Given the description of an element on the screen output the (x, y) to click on. 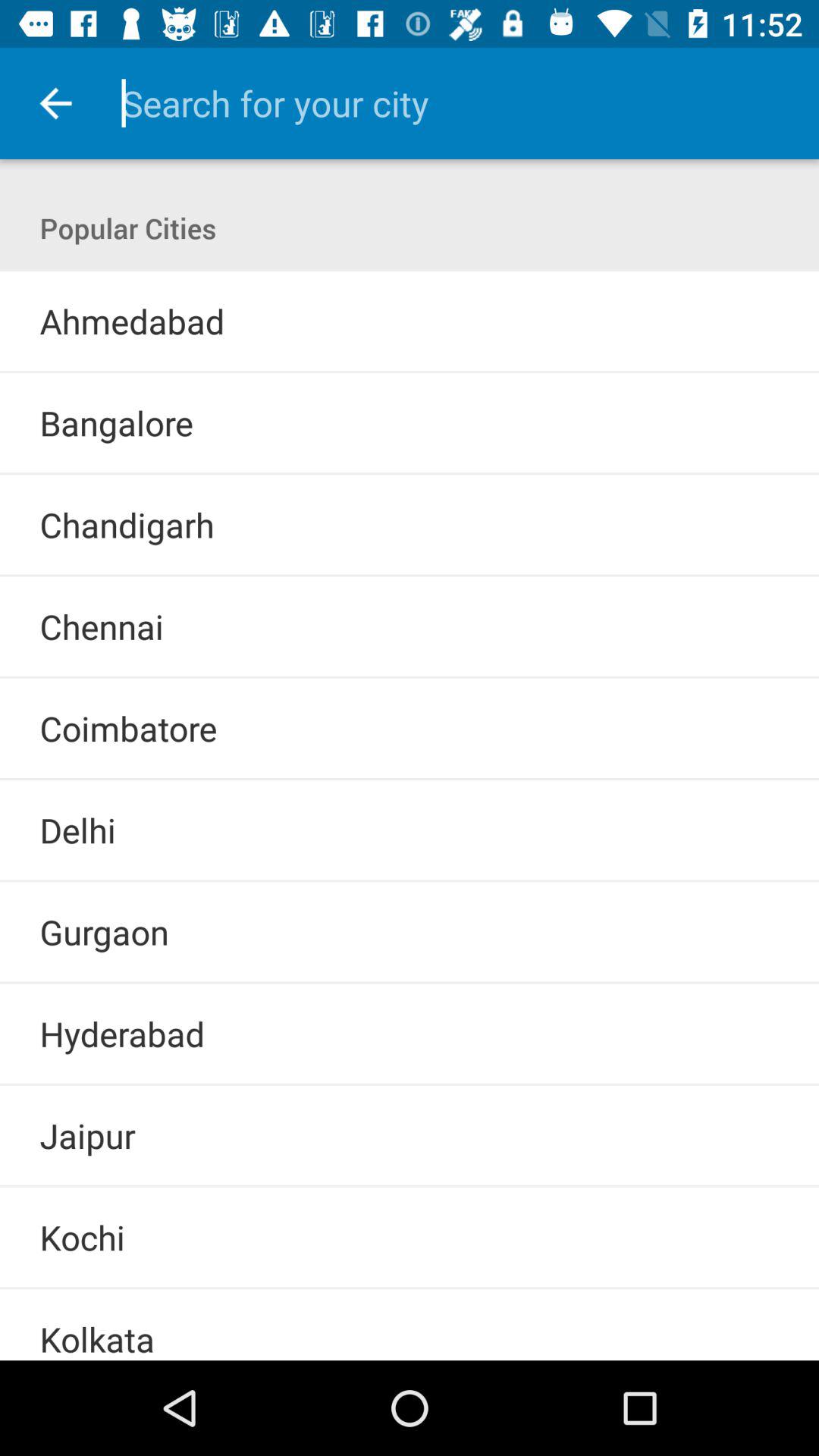
flip until delhi (77, 830)
